Given the description of an element on the screen output the (x, y) to click on. 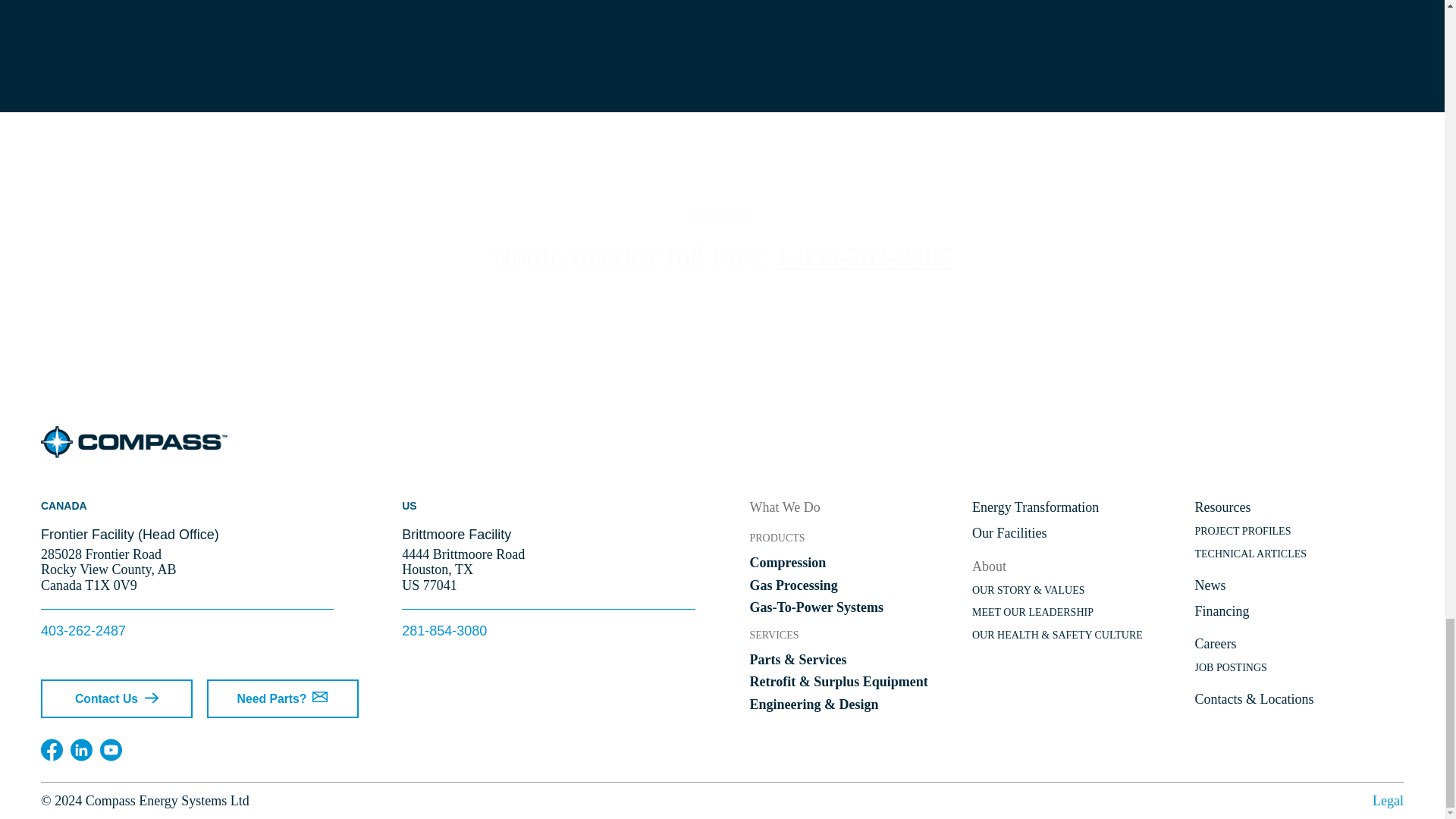
Resources (1300, 512)
Careers (1300, 648)
PROJECT PROFILES (1300, 536)
Contact Us (116, 698)
Energy Transformation (1076, 512)
Need Parts? (282, 698)
News (1300, 590)
403-262-2487 (82, 630)
281-854-3080 (443, 630)
Financing (1300, 616)
